Given the description of an element on the screen output the (x, y) to click on. 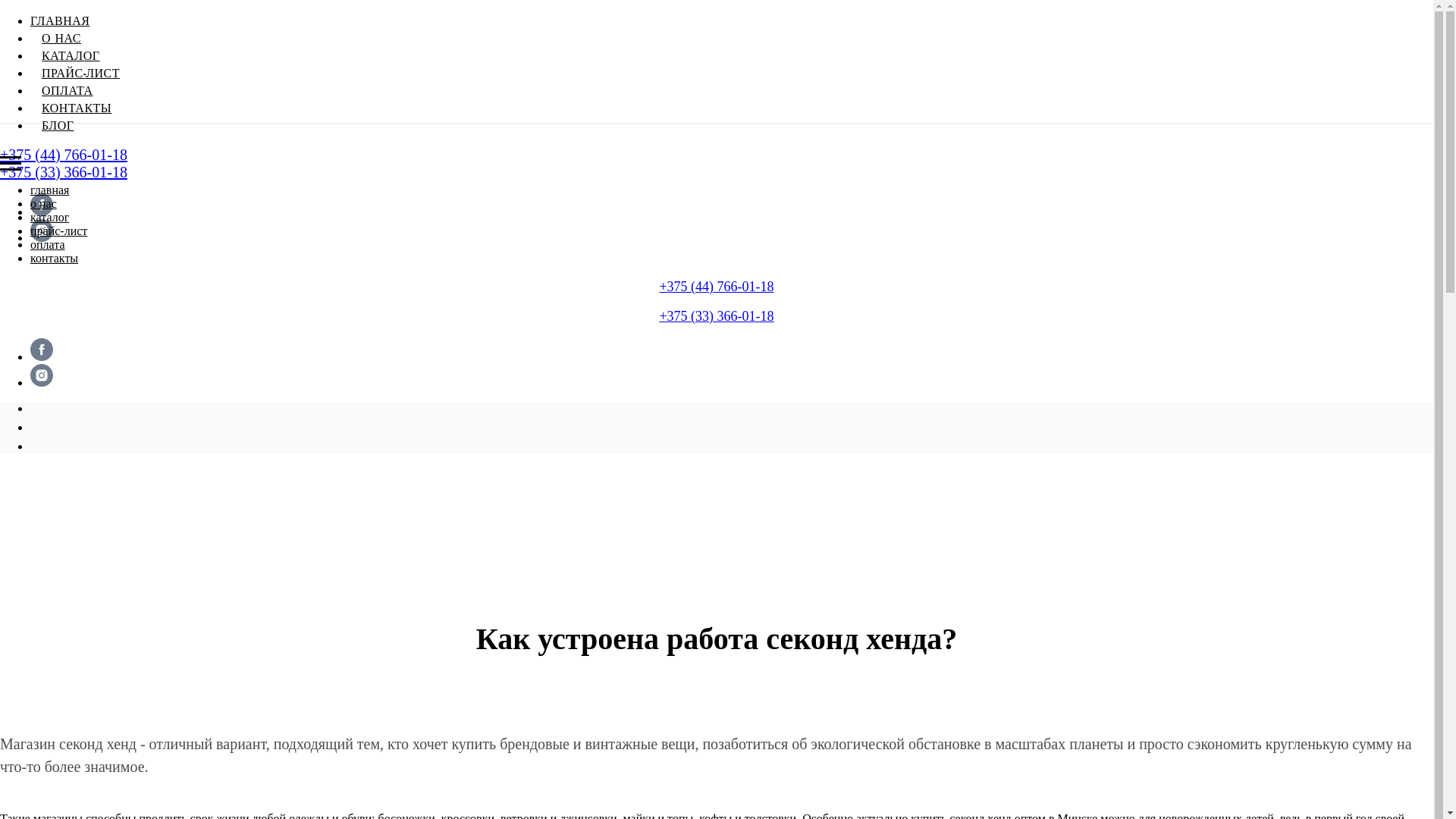
+375 (33) 366-01-18 Element type: text (715, 315)
+375 (33) 366-01-18 Element type: text (63, 171)
+375 (44) 766-01-18 Element type: text (63, 154)
+375 (44) 766-01-18 Element type: text (715, 286)
